Given the description of an element on the screen output the (x, y) to click on. 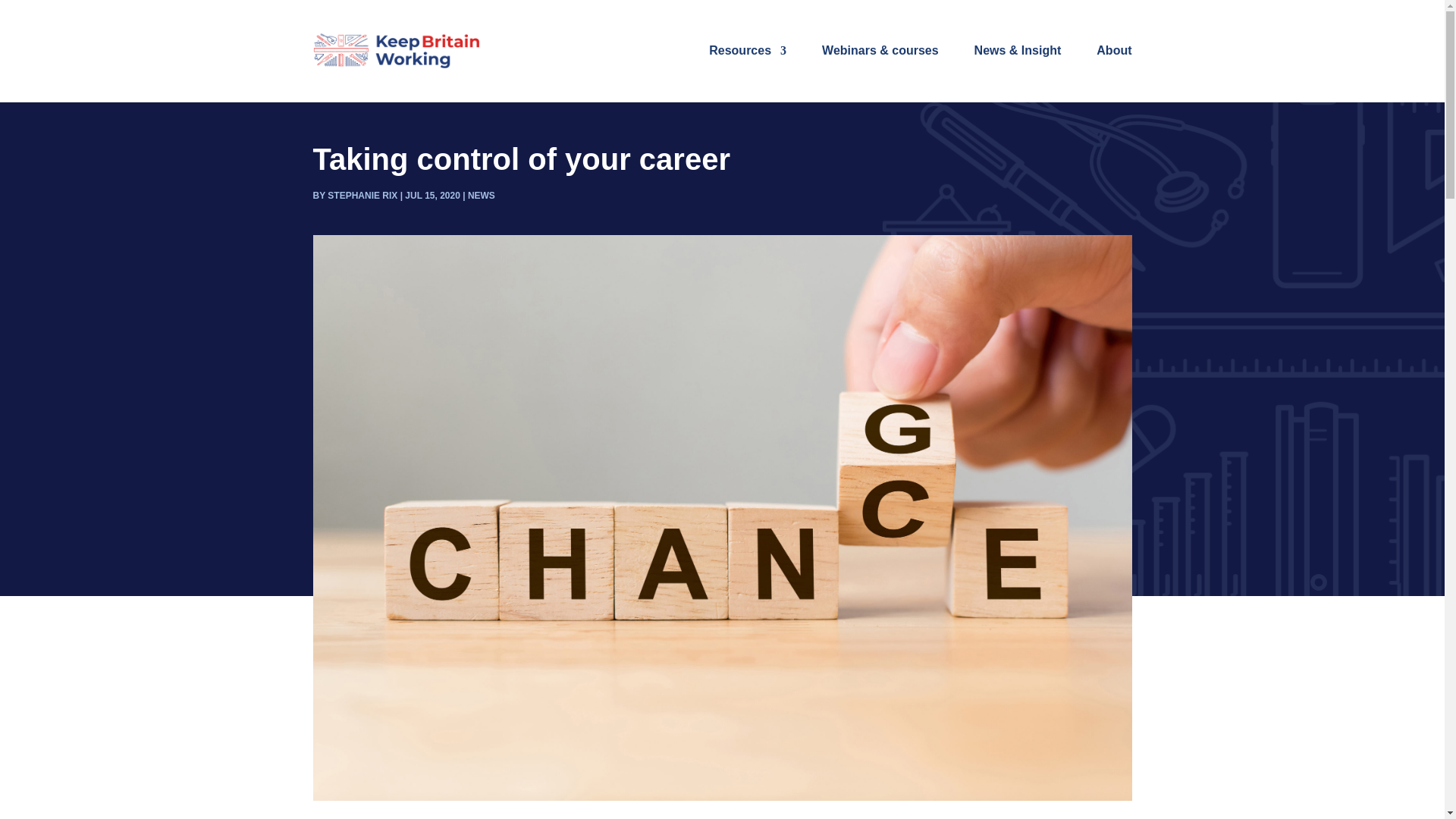
Posts by Stephanie Rix (362, 195)
Resources (747, 50)
STEPHANIE RIX (362, 195)
NEWS (481, 195)
